Given the description of an element on the screen output the (x, y) to click on. 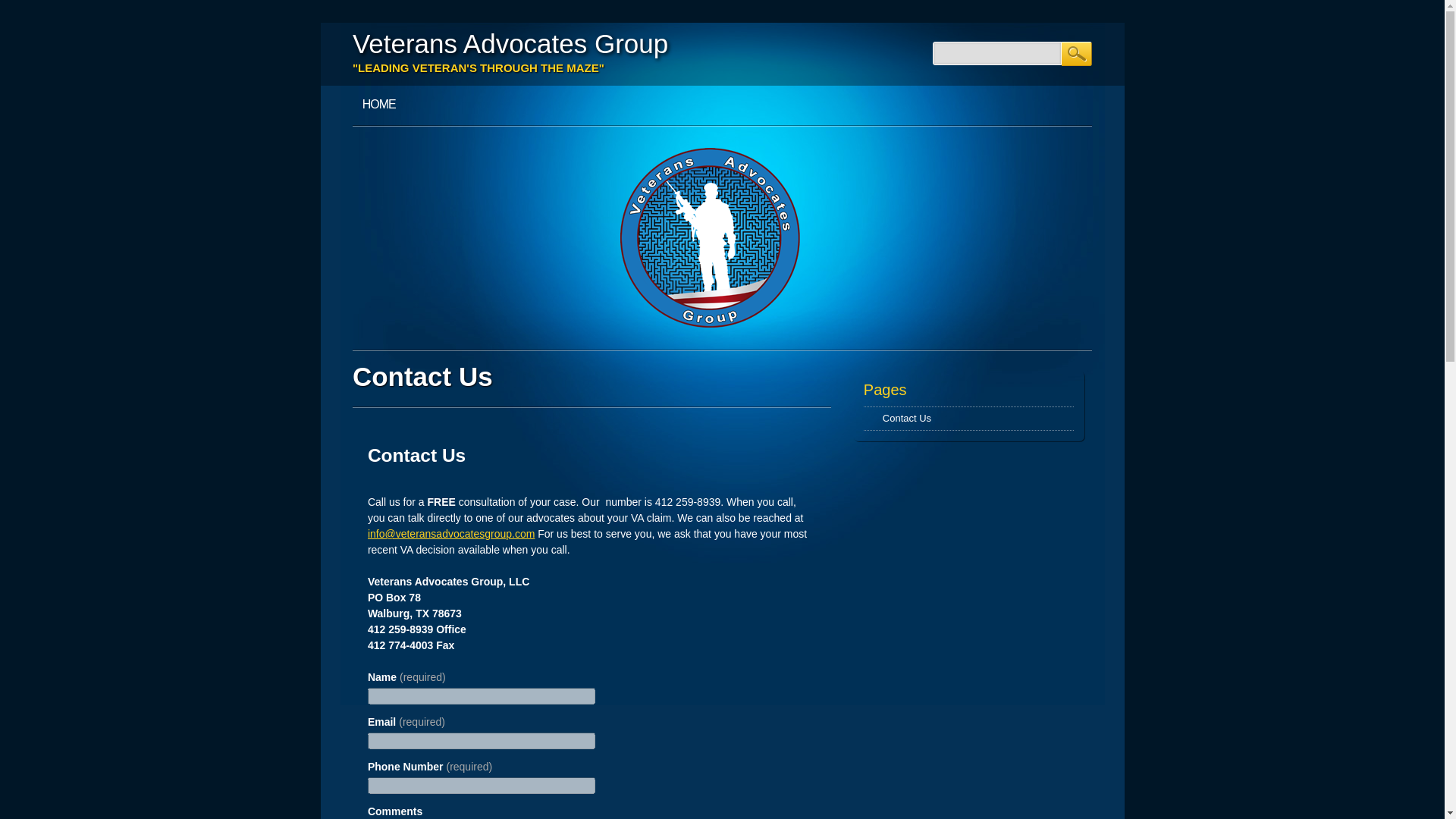
Home (379, 104)
Veterans Advocates Group (510, 43)
Search (1076, 53)
Contact Us (906, 418)
Search (1076, 53)
HOME (379, 104)
Skip to content (355, 92)
Skip to content (355, 92)
Veterans Advocates Group (510, 43)
